Given the description of an element on the screen output the (x, y) to click on. 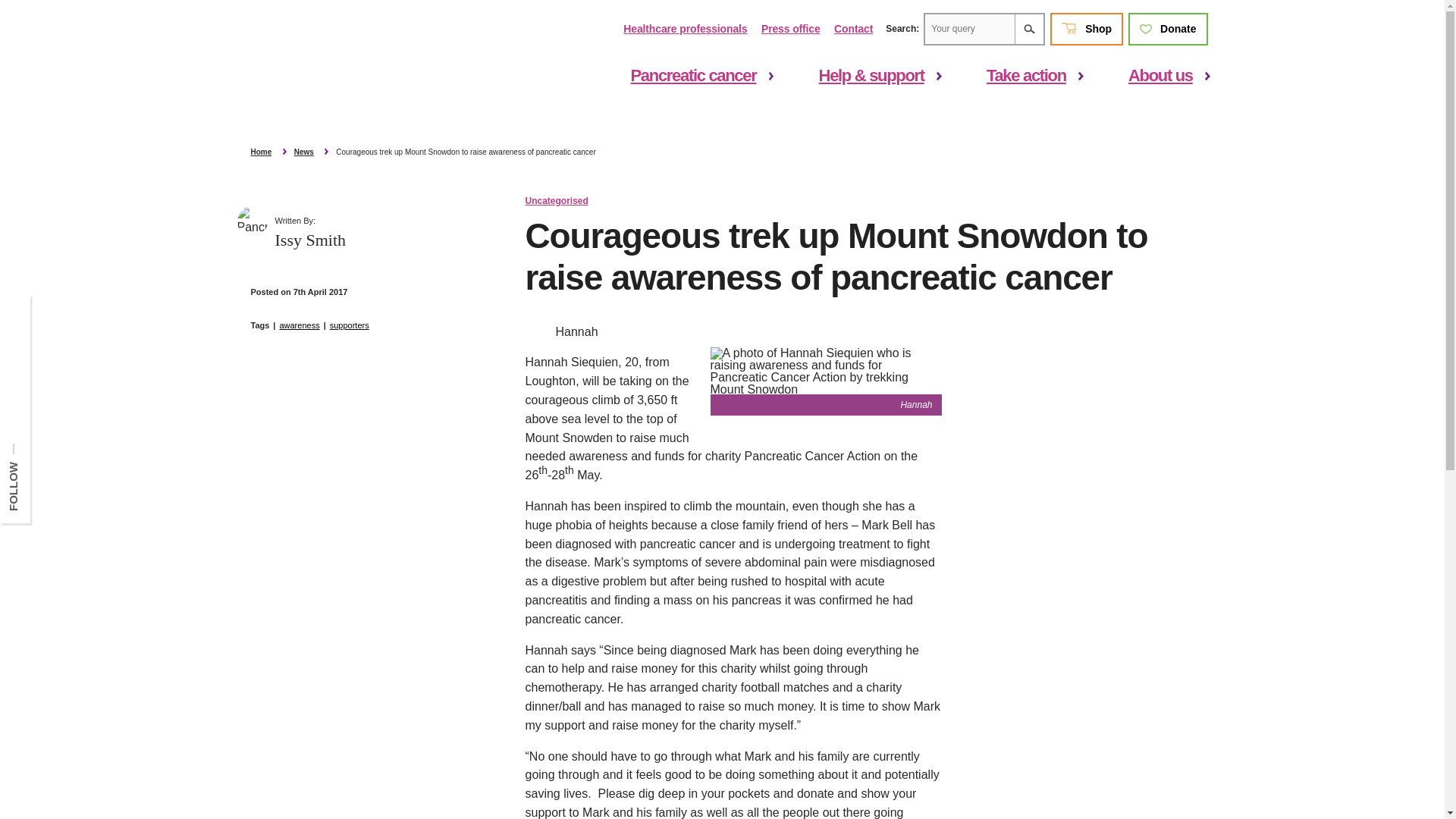
Follow us on Facebook (15, 315)
Follow us on Linked In (15, 394)
Contact (853, 28)
Pancreatic cancer (693, 75)
Follow us on Twitter (15, 341)
pancreatic cancer action (300, 55)
Follow us on Instagram (15, 367)
Shop (1085, 29)
Press office (791, 28)
Take action (1026, 75)
